Given the description of an element on the screen output the (x, y) to click on. 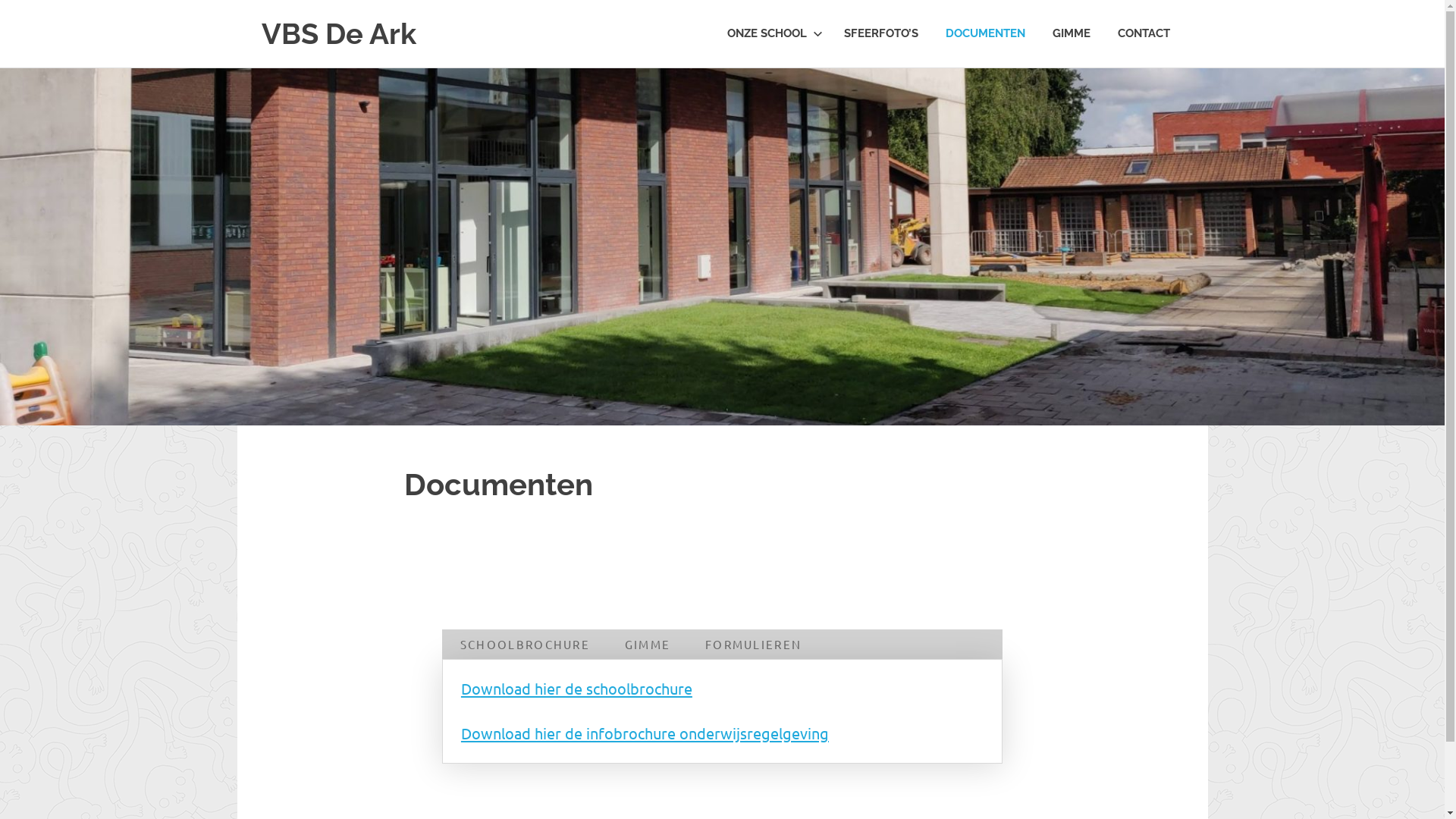
FORMULIEREN Element type: text (752, 644)
CONTACT Element type: text (1143, 33)
VBS De Ark Element type: text (337, 33)
DOCUMENTEN Element type: text (984, 33)
Download hier de infobrochure onderwijsregelgeving Element type: text (644, 732)
Download hier de schoolbrochure Element type: text (576, 687)
SCHOOLBROCHURE Element type: text (524, 644)
ONZE SCHOOL Element type: text (770, 33)
GIMME Element type: text (646, 644)
GIMME Element type: text (1071, 33)
